Given the description of an element on the screen output the (x, y) to click on. 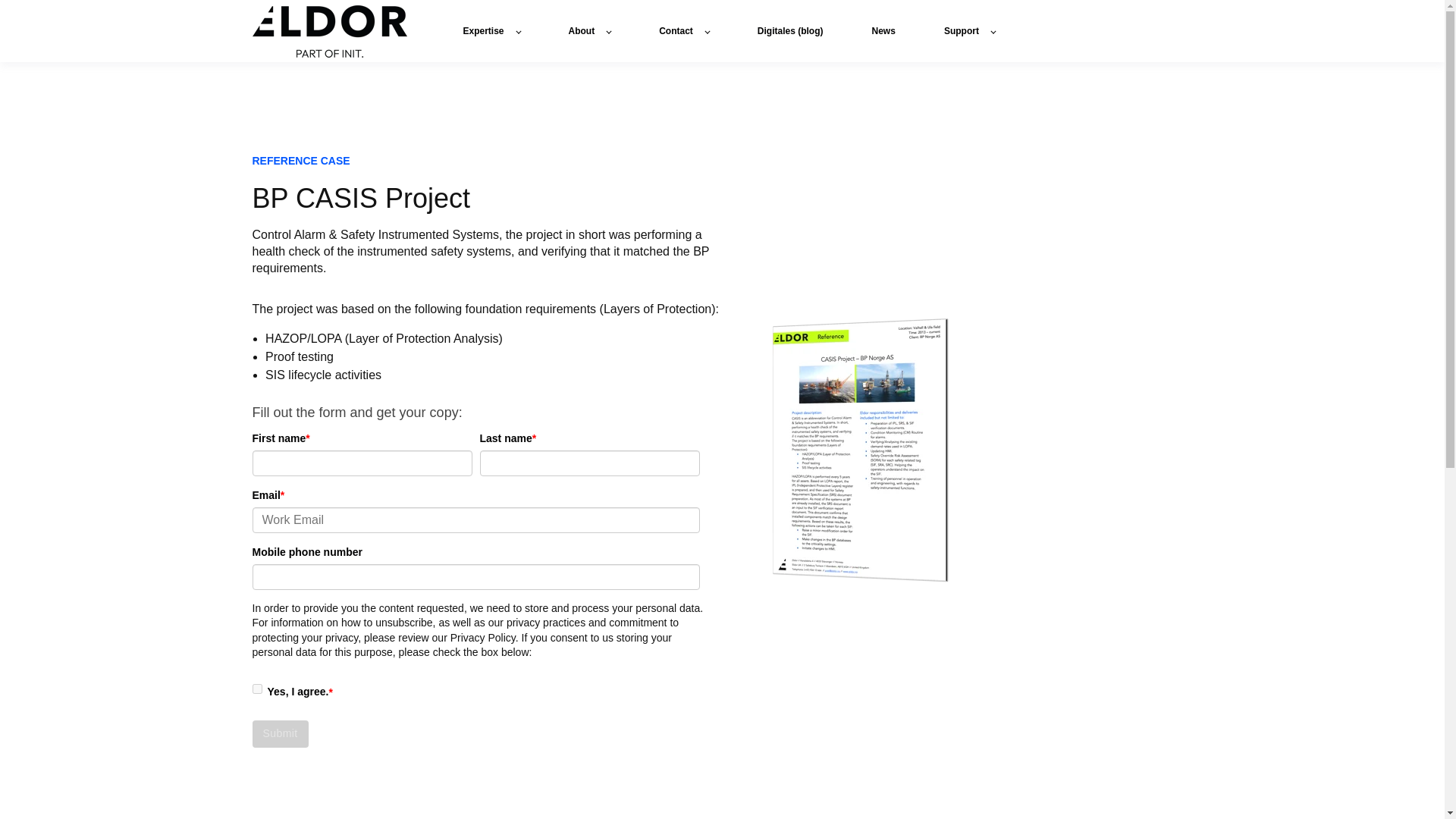
Expertise (491, 30)
true (256, 688)
About (590, 30)
Support (968, 30)
Contact (684, 30)
Page 1 (486, 305)
Submit (279, 733)
Page 1 (486, 251)
Submit (279, 733)
Privacy Policy (482, 636)
